Given the description of an element on the screen output the (x, y) to click on. 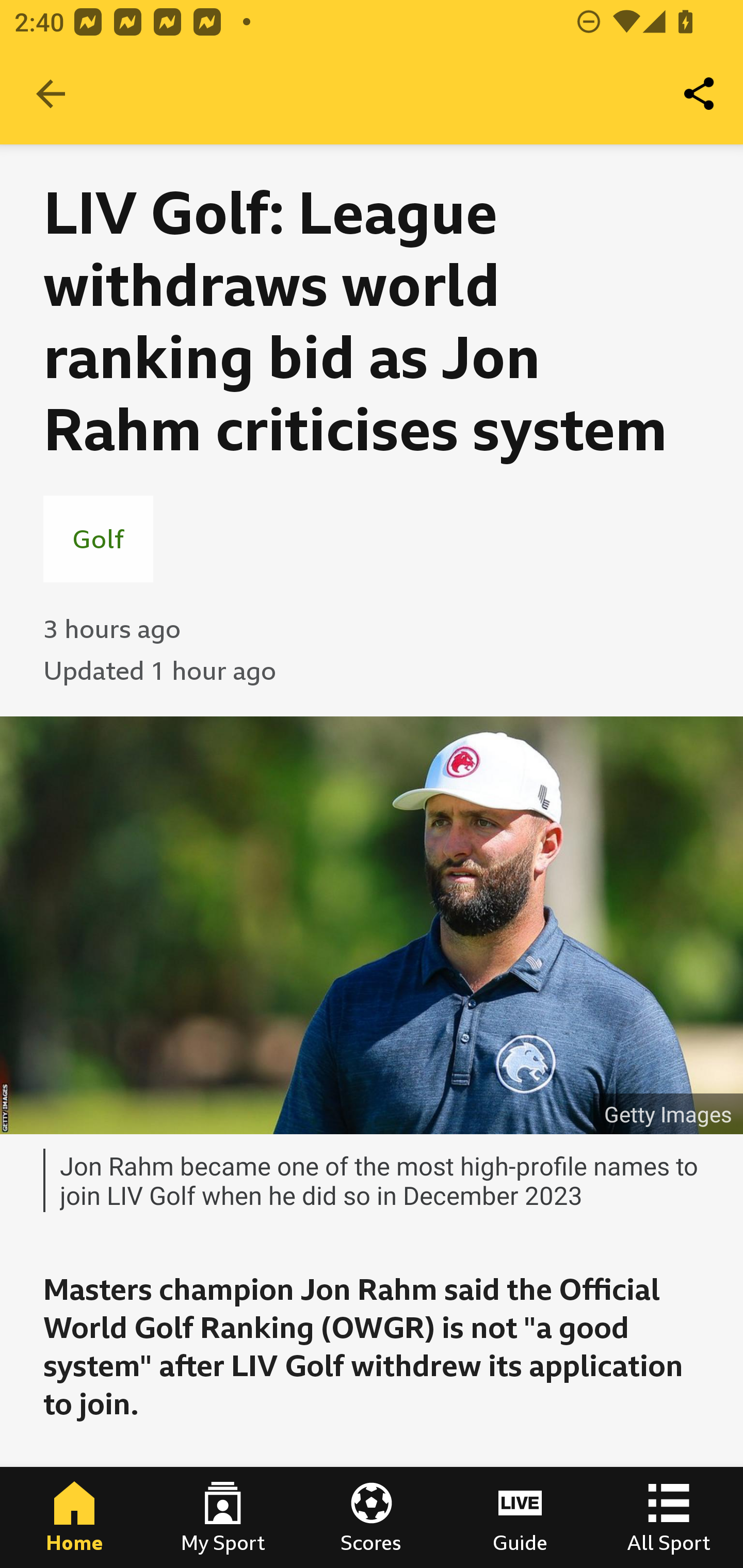
Navigate up (50, 93)
Share (699, 93)
Golf (98, 538)
My Sport (222, 1517)
Scores (371, 1517)
Guide (519, 1517)
All Sport (668, 1517)
